Given the description of an element on the screen output the (x, y) to click on. 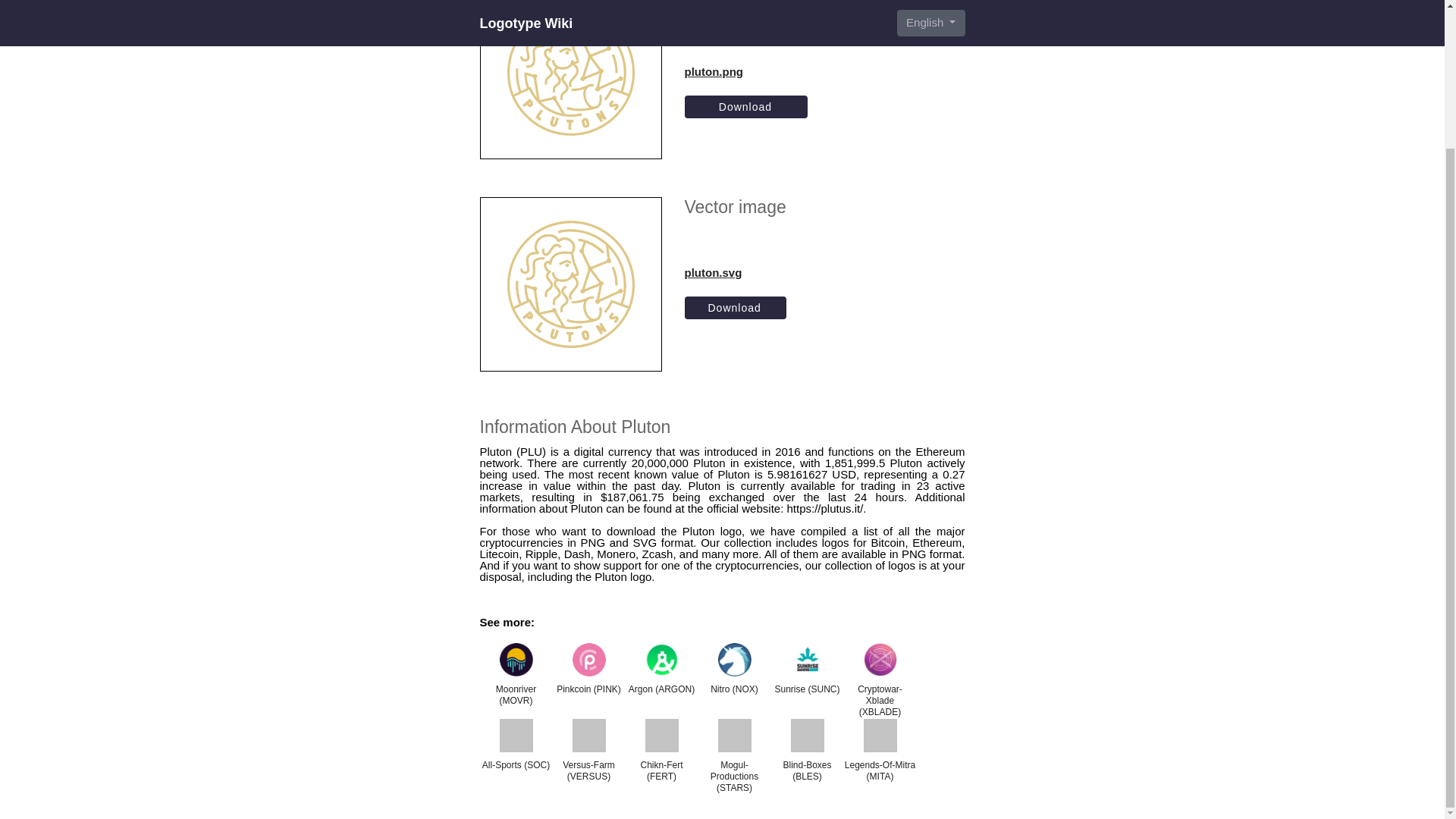
Download (735, 307)
pluton.png (746, 71)
Download (746, 106)
pluton.svg (735, 272)
